Given the description of an element on the screen output the (x, y) to click on. 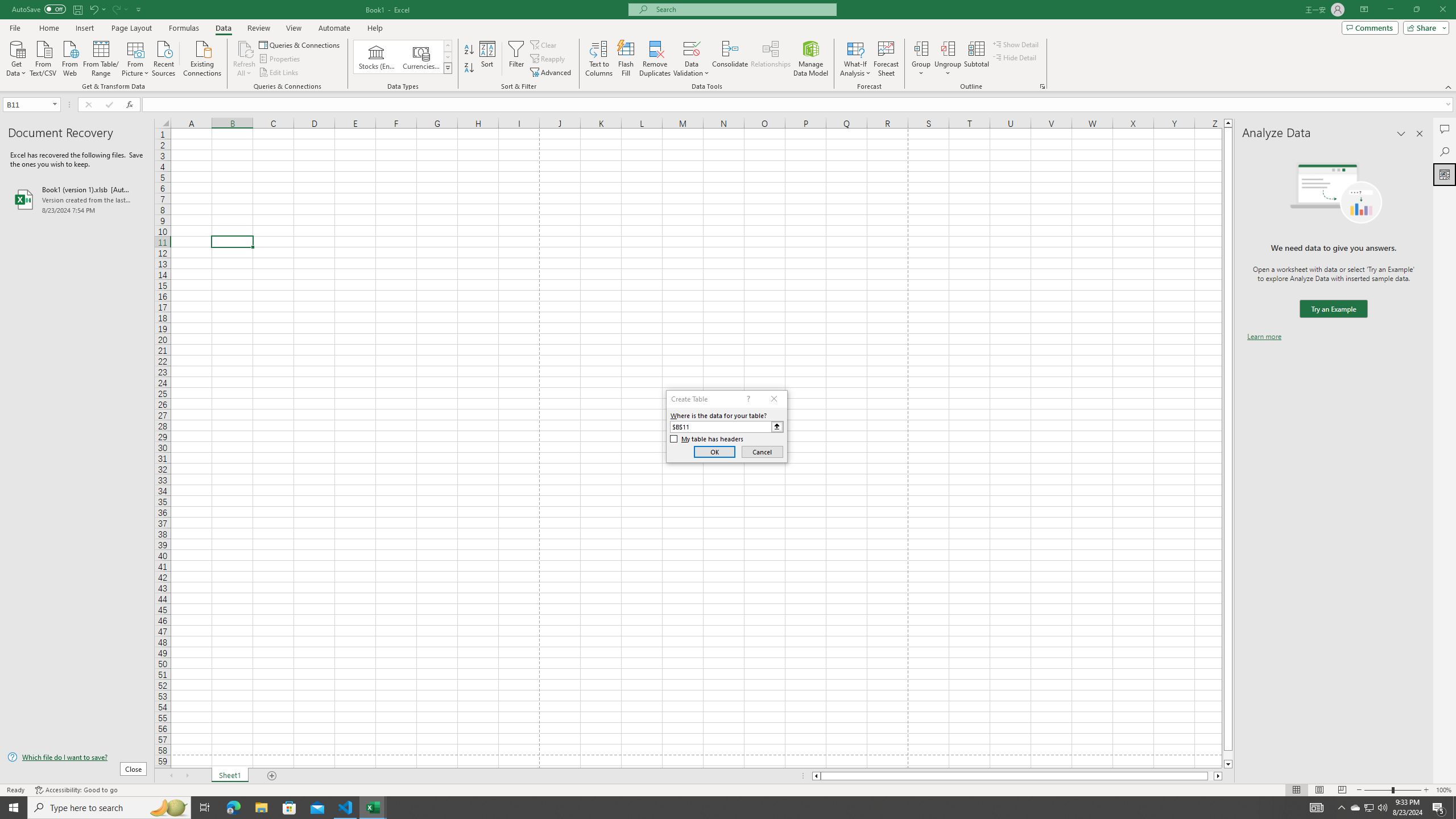
Minimize (1390, 9)
Quick Access Toolbar (77, 9)
Zoom Out (1377, 790)
Close pane (1419, 133)
Book1 (version 1).xlsb  [AutoRecovered] (77, 199)
More Options (947, 68)
Subtotal (976, 58)
Column right (1218, 775)
Zoom (1392, 790)
Row Down (448, 56)
Remove Duplicates (654, 58)
Group... (921, 48)
Which file do I want to save? (77, 757)
Column left (815, 775)
